Given the description of an element on the screen output the (x, y) to click on. 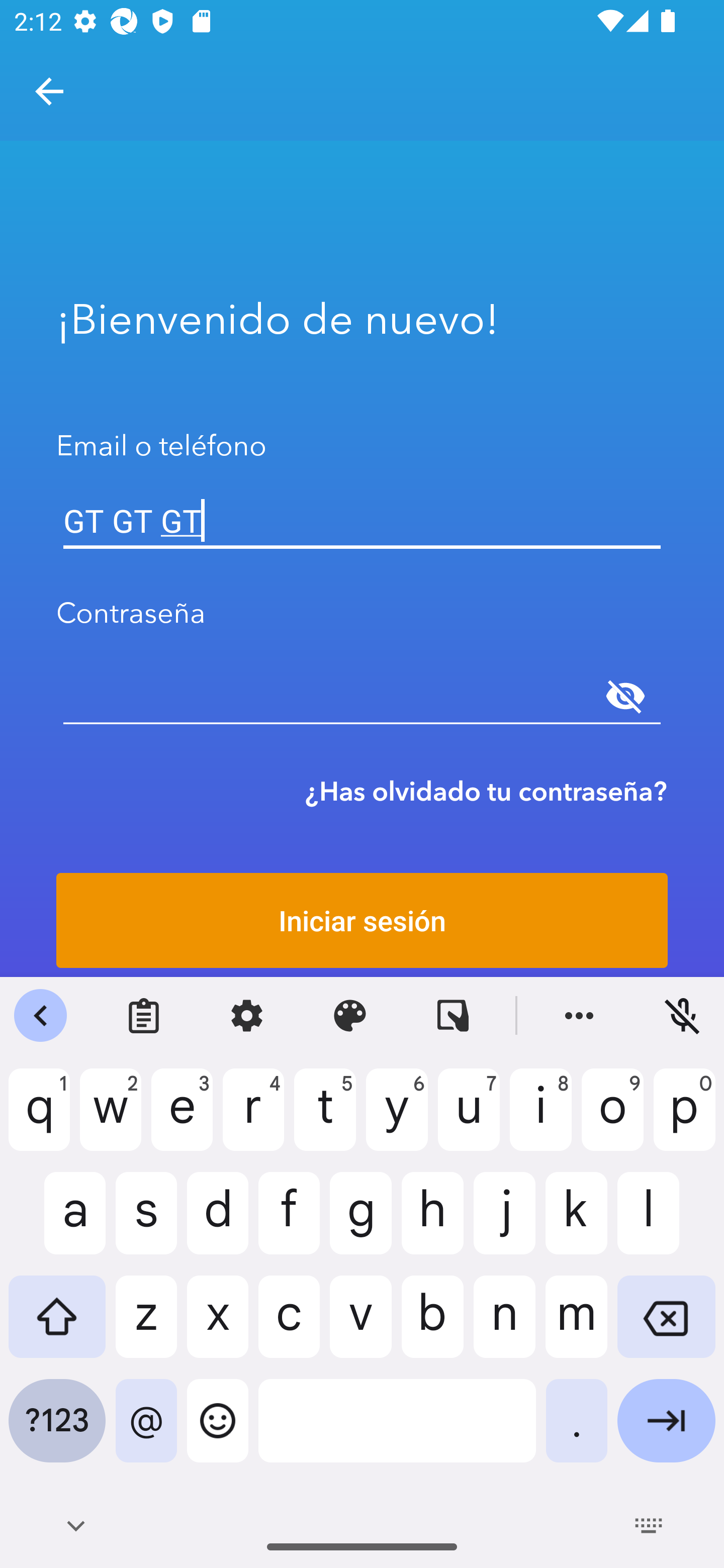
Navegar hacia arriba (49, 91)
GT GT GT (361, 521)
Mostrar contraseña (625, 695)
¿Has olvidado tu contraseña? (486, 790)
Iniciar sesión (361, 920)
